Given the description of an element on the screen output the (x, y) to click on. 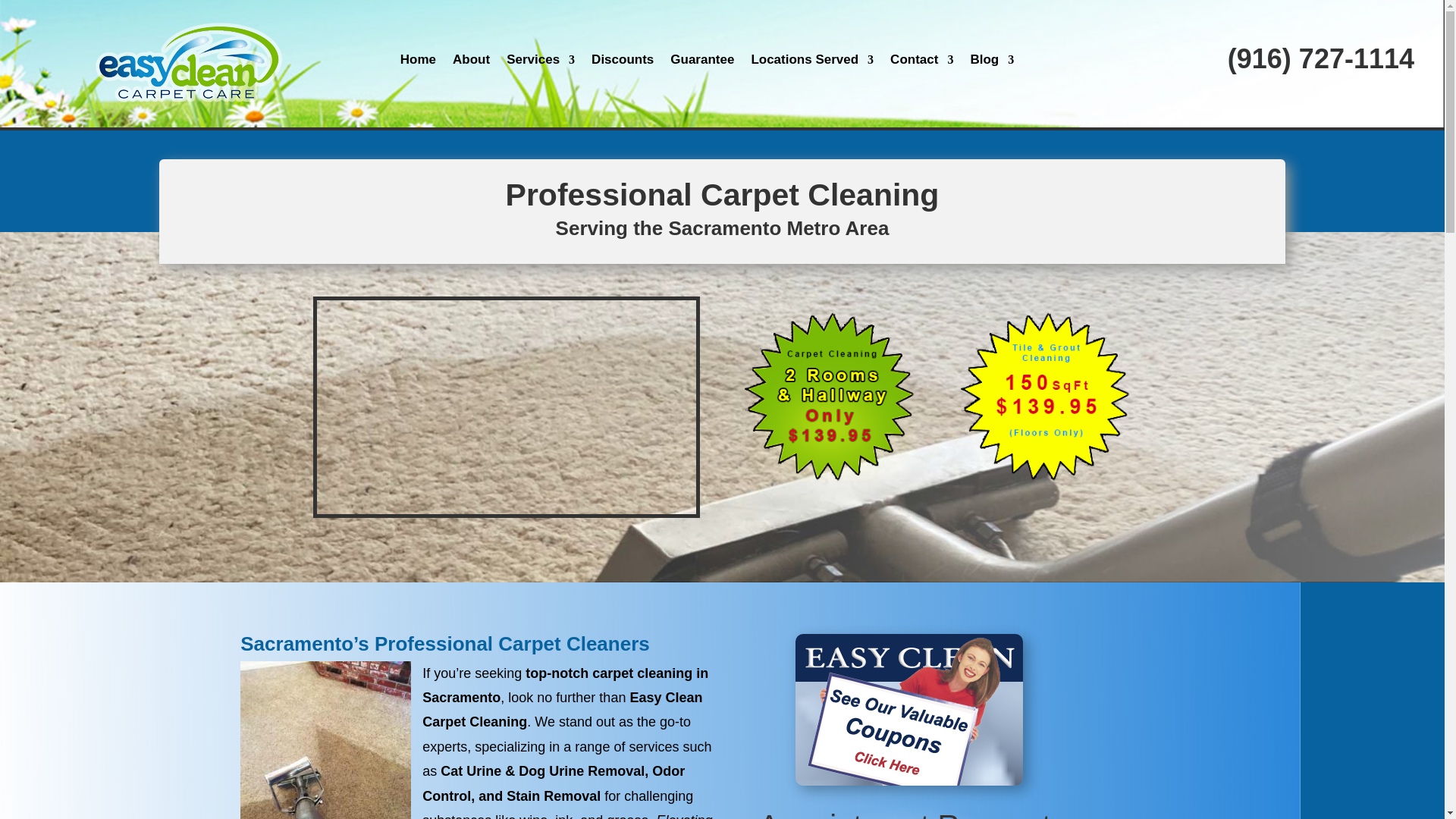
Services (540, 62)
Guarantee (701, 62)
header3 (187, 63)
Blog (991, 62)
Easy Clean Carpet Cleaning (506, 407)
Discounts (622, 62)
Contact (921, 62)
Home (417, 62)
Locations Served (812, 62)
About (470, 62)
